Given the description of an element on the screen output the (x, y) to click on. 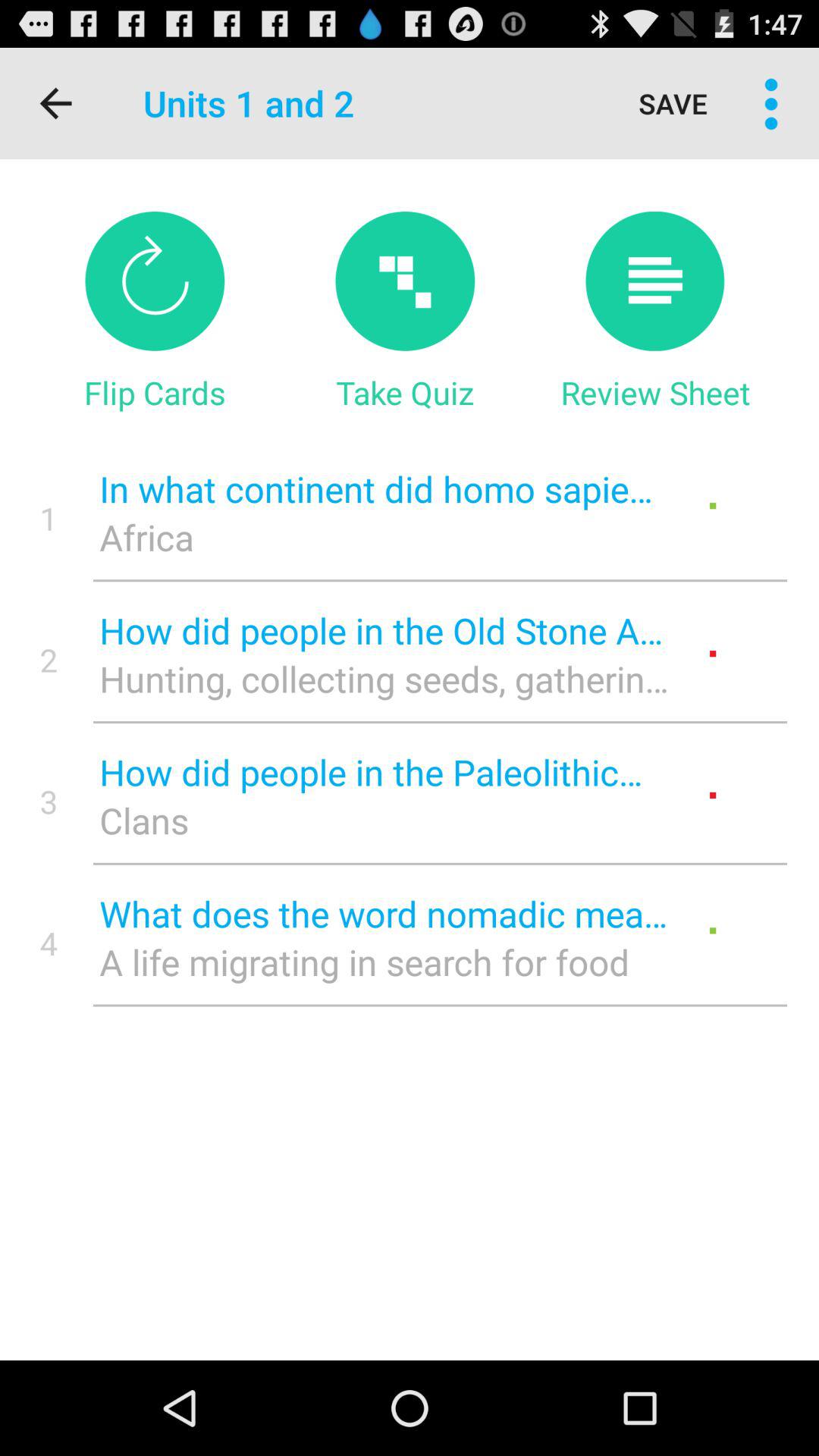
select flip cards (154, 280)
